Given the description of an element on the screen output the (x, y) to click on. 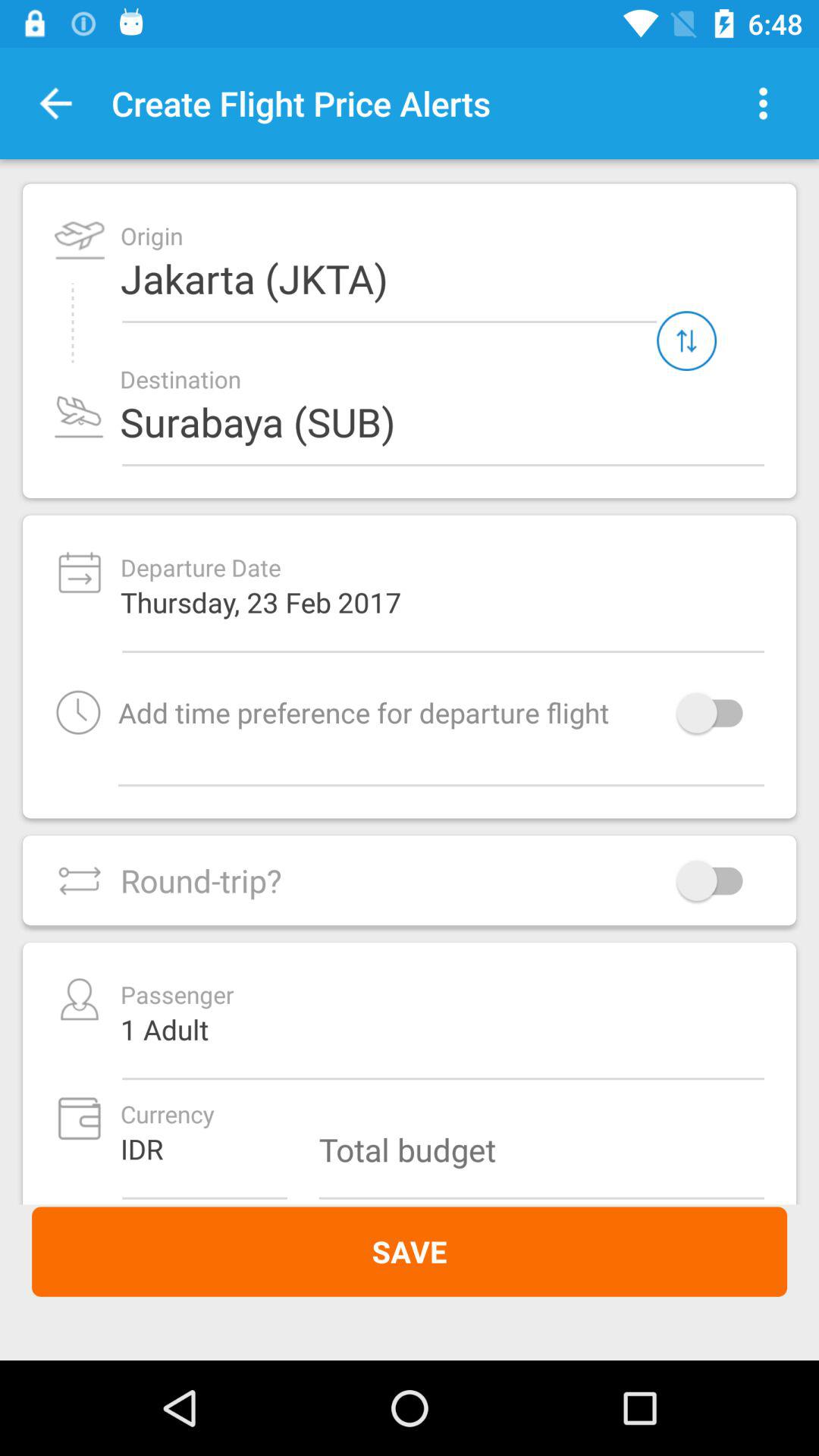
toggle to enable round-trip options (717, 880)
